Given the description of an element on the screen output the (x, y) to click on. 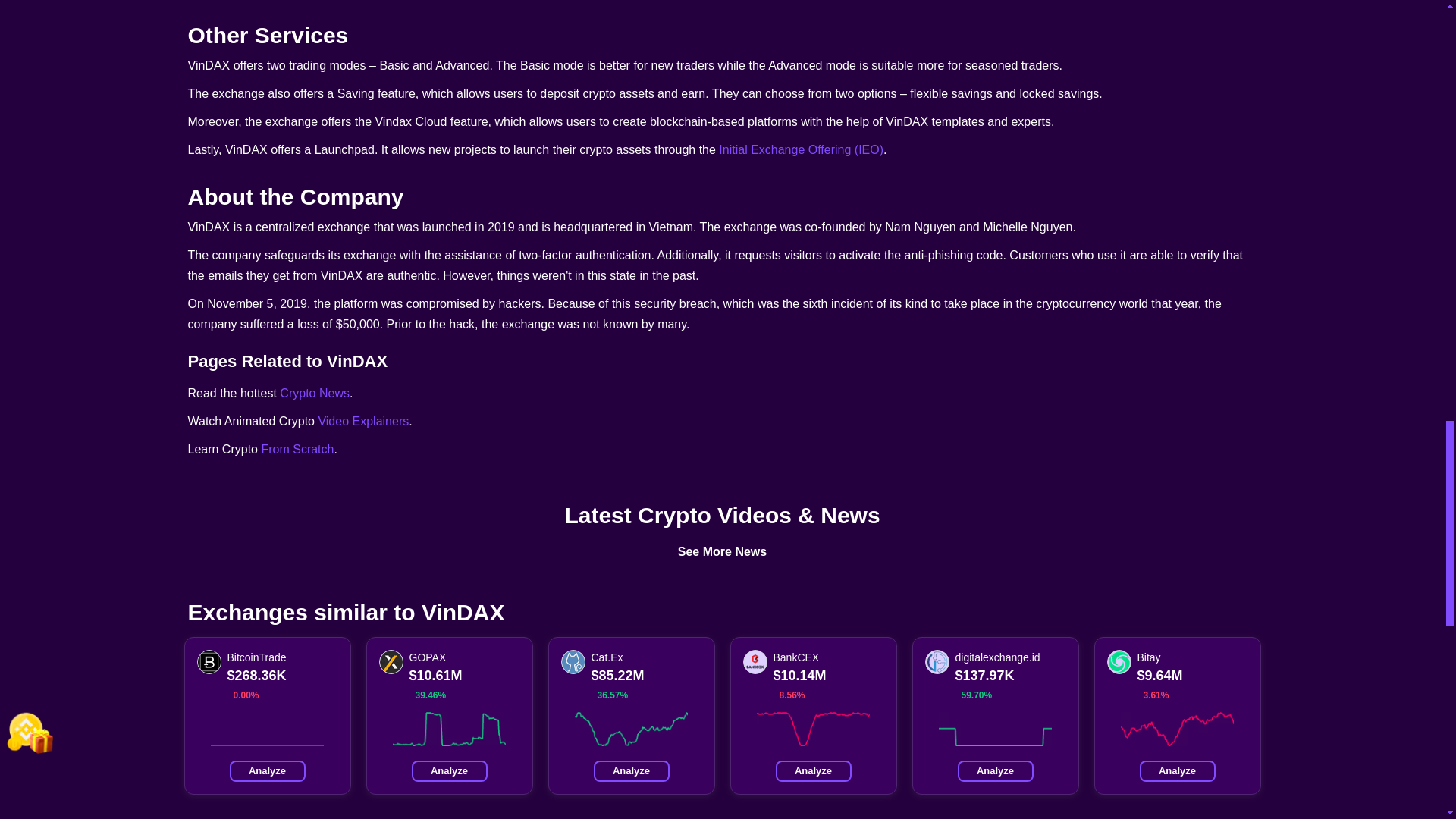
Bitay 7 days volume chart (1177, 728)
BitcoinTrade 7 days volume chart (267, 728)
BankCEX Exchange (754, 662)
BitcoinTrade Exchange (208, 662)
digitalexchange.id 7 days volume chart (995, 728)
Cat.Ex 7 days volume chart (631, 728)
GOPAX Exchange (390, 662)
Cat.Ex Exchange (572, 662)
GOPAX 7 days volume chart (449, 728)
digitalexchange.id Exchange (936, 662)
BankCEX 7 days volume chart (813, 728)
Bitay Exchange (1118, 662)
